Given the description of an element on the screen output the (x, y) to click on. 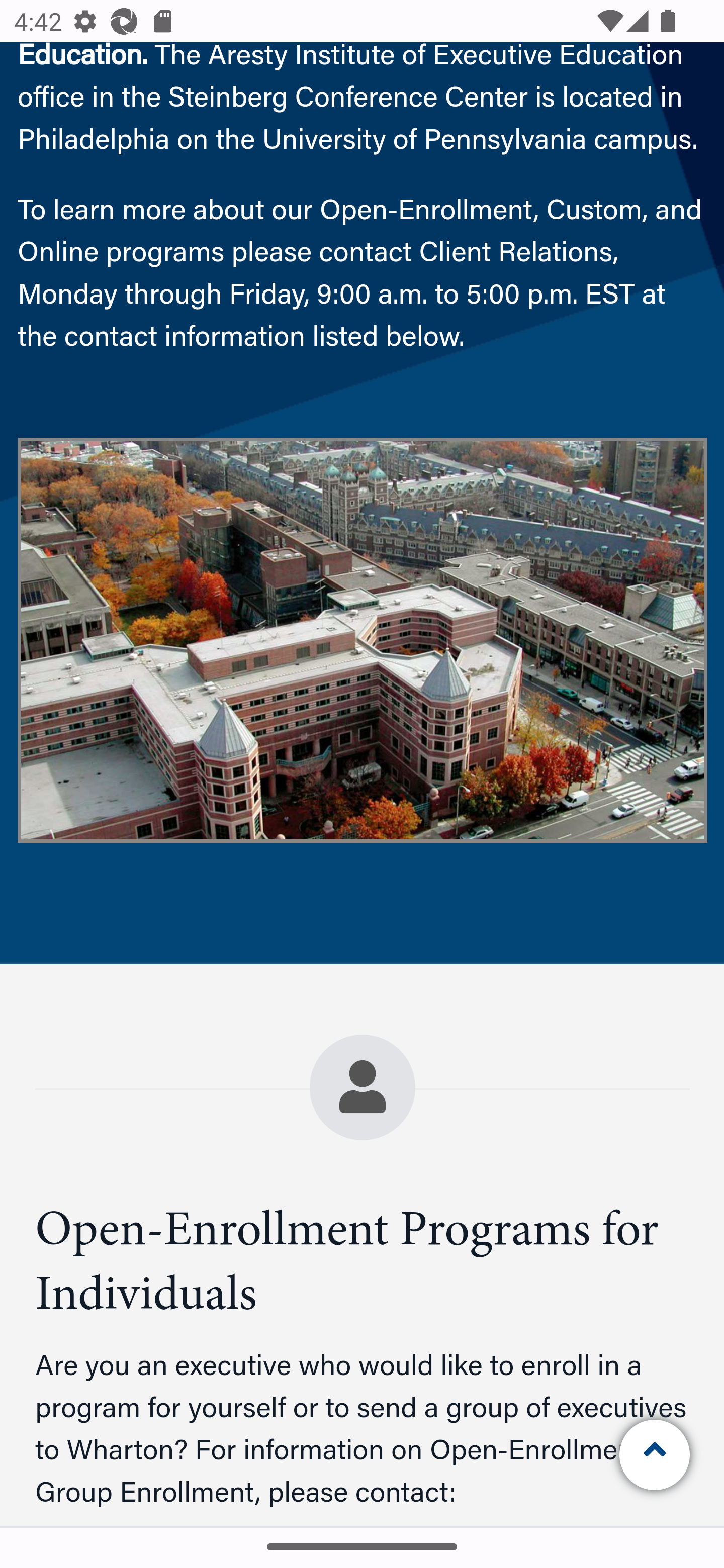
 (655, 1455)
